Given the description of an element on the screen output the (x, y) to click on. 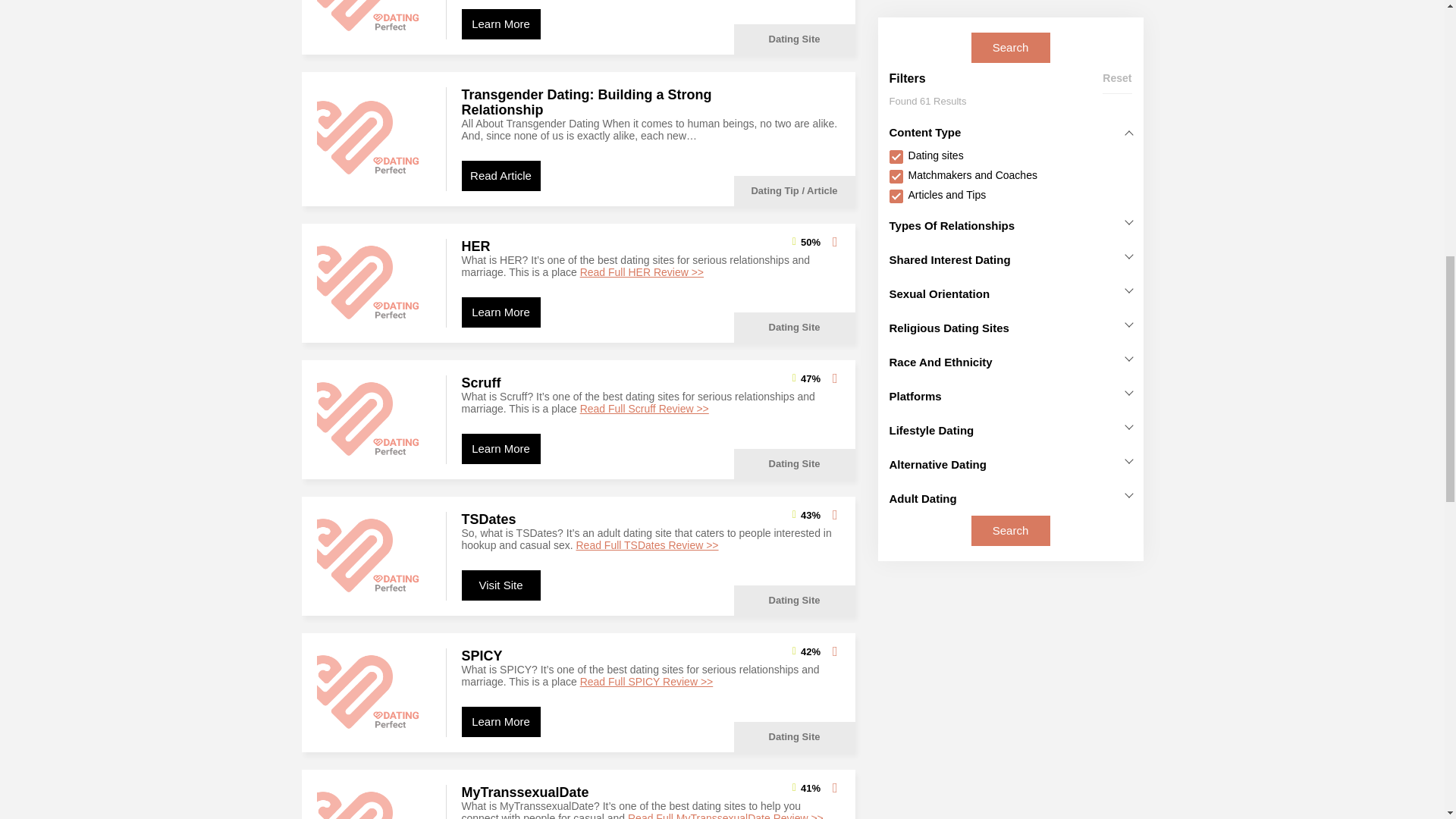
TSDates (373, 555)
HER (373, 283)
Gayvox (373, 19)
Scruff (373, 419)
SPICY (373, 692)
Search (1010, 160)
Transgender Dating: Building a Strong Relationship (373, 137)
MyTranssexualDate (373, 801)
Learn More (500, 24)
